Given the description of an element on the screen output the (x, y) to click on. 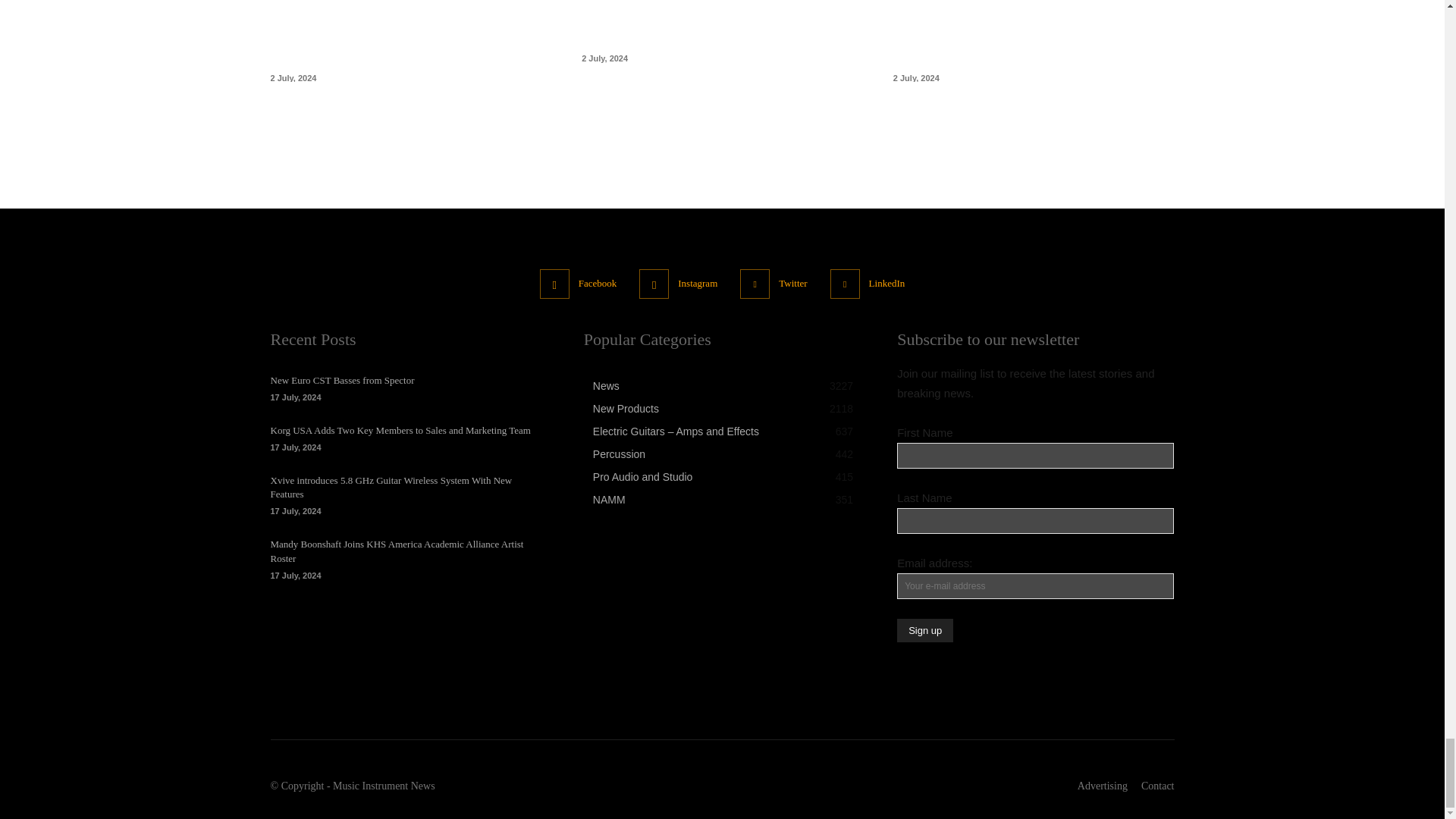
Sign up (924, 630)
